Given the description of an element on the screen output the (x, y) to click on. 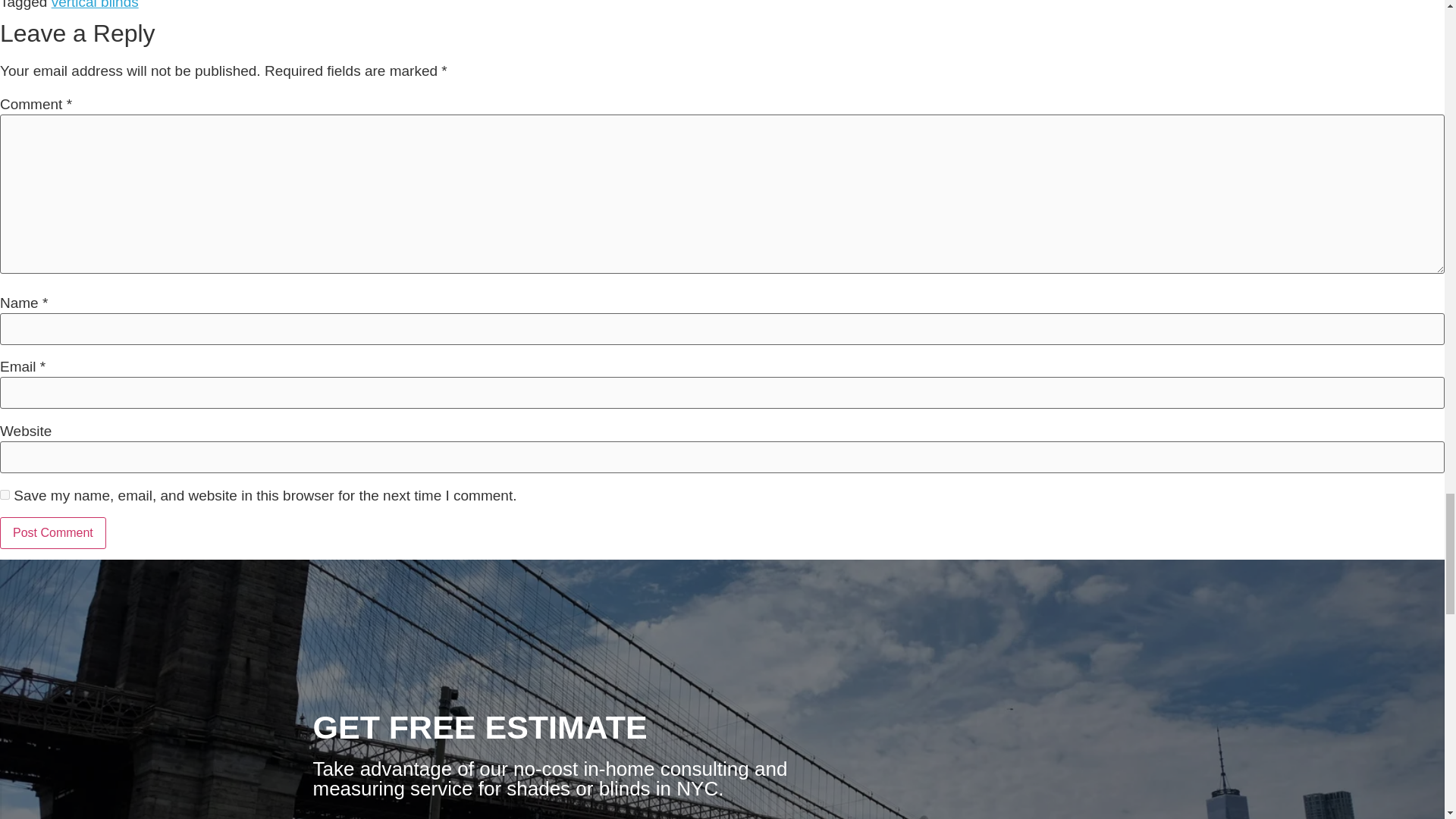
Post Comment (53, 532)
yes (5, 494)
